Given the description of an element on the screen output the (x, y) to click on. 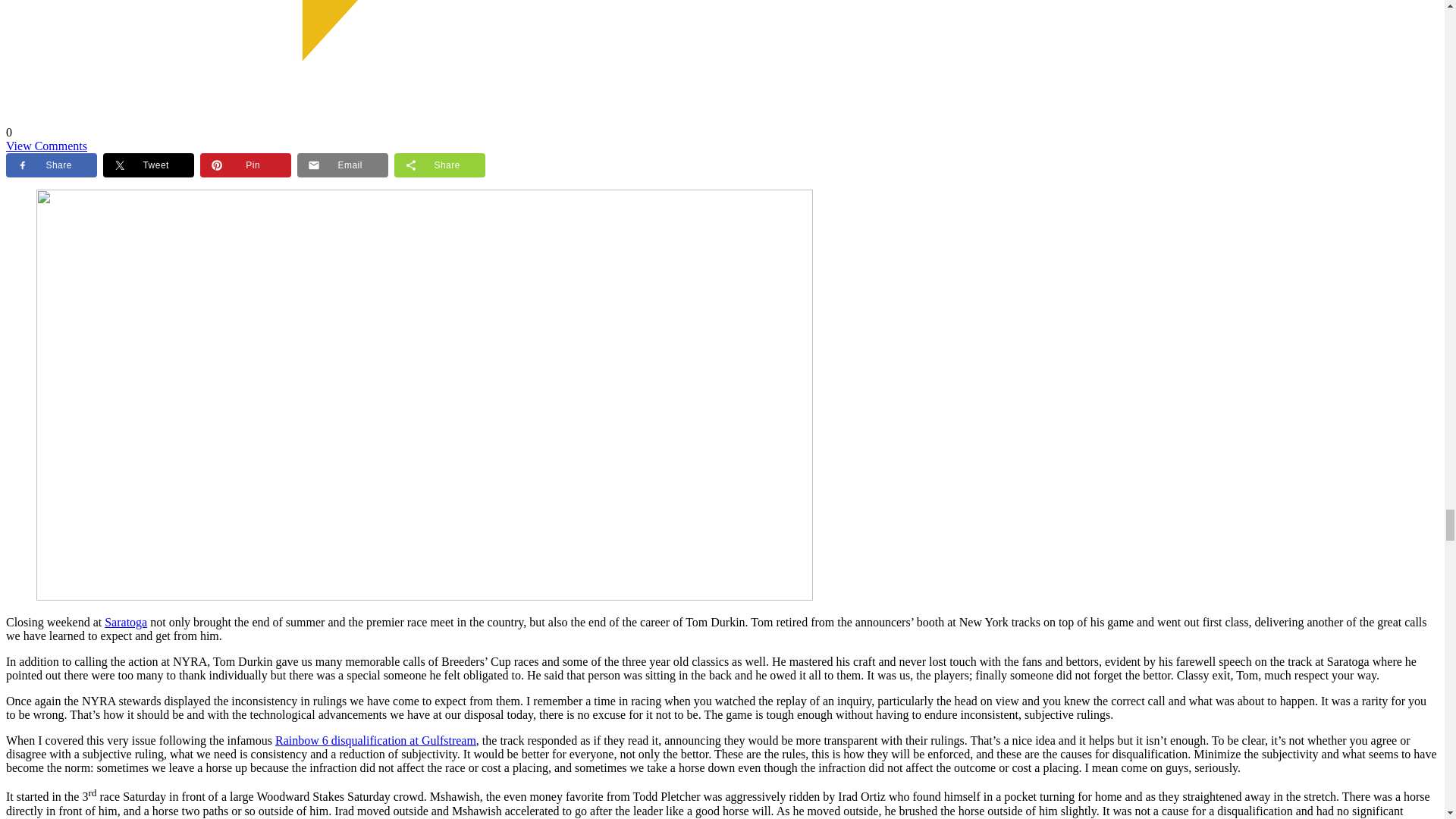
View Comments (46, 145)
